Given the description of an element on the screen output the (x, y) to click on. 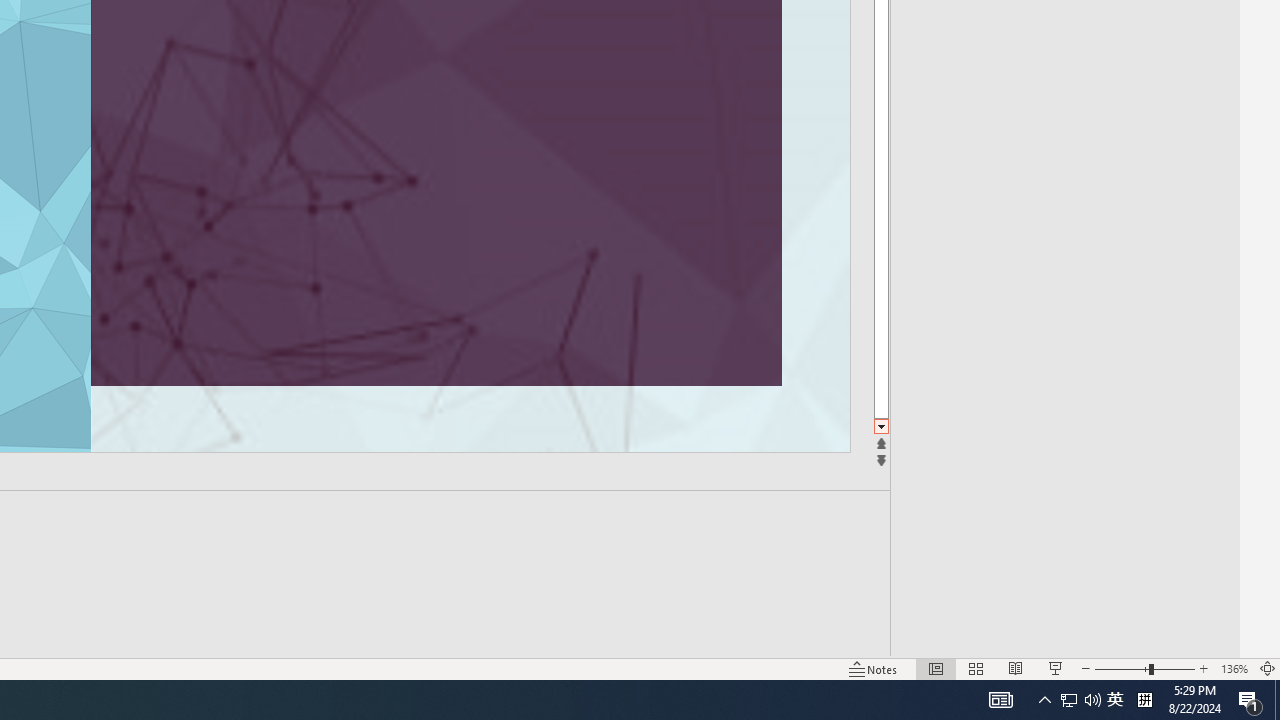
Zoom 136% (1234, 668)
